Given the description of an element on the screen output the (x, y) to click on. 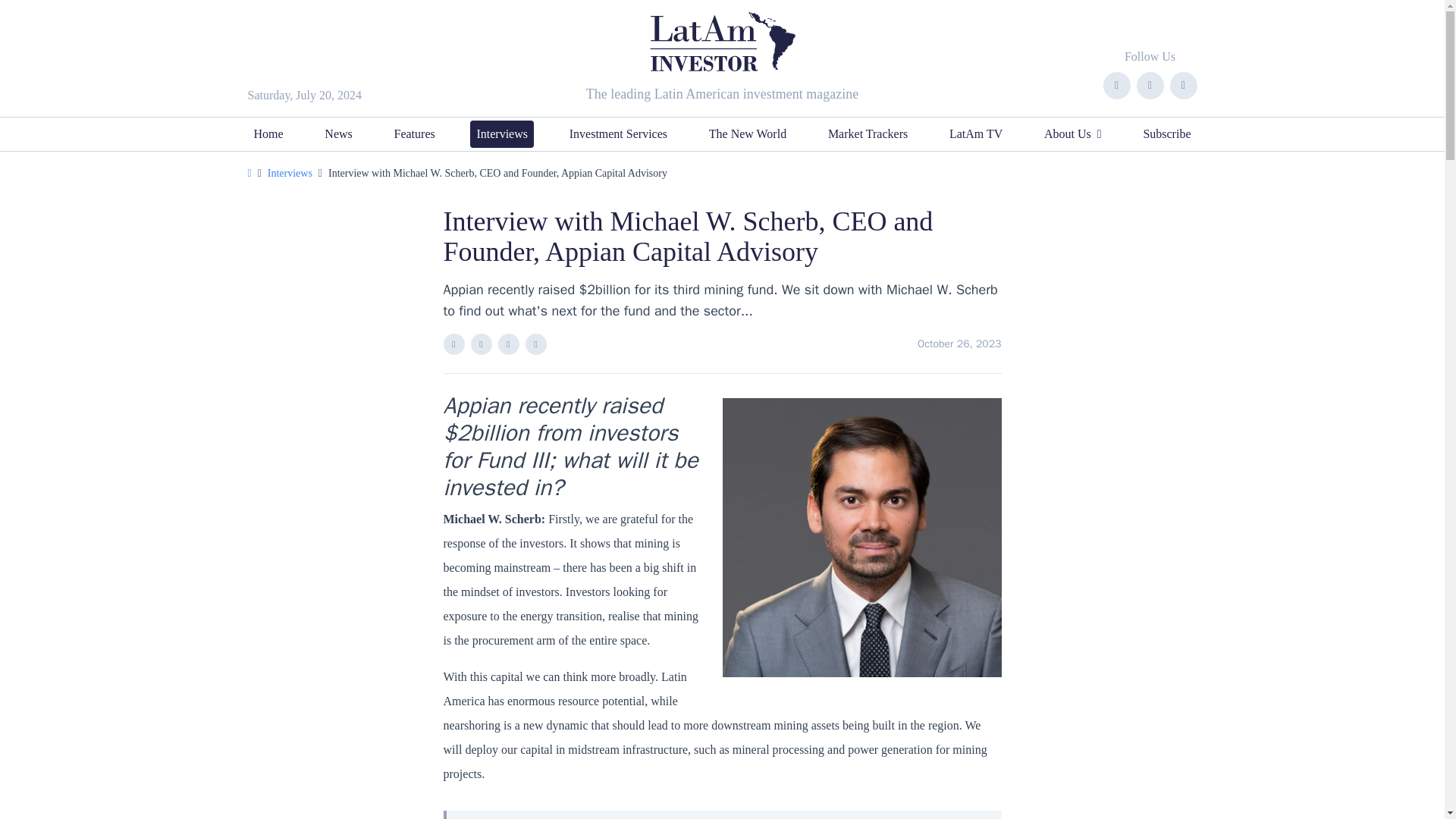
About Us (1073, 134)
Share on Twitter (507, 343)
Follow us on YouTube (1182, 85)
Market Trackers (868, 134)
Share on Facebook (453, 343)
Investment Services (617, 134)
Follow us on Twitter (1149, 85)
Home (267, 134)
Interviews (502, 134)
Features (414, 134)
LatAm TV (976, 134)
Follow us on LinkedIn (1115, 85)
Share by Email (535, 343)
The New World (747, 134)
Subscribe (1166, 134)
